Given the description of an element on the screen output the (x, y) to click on. 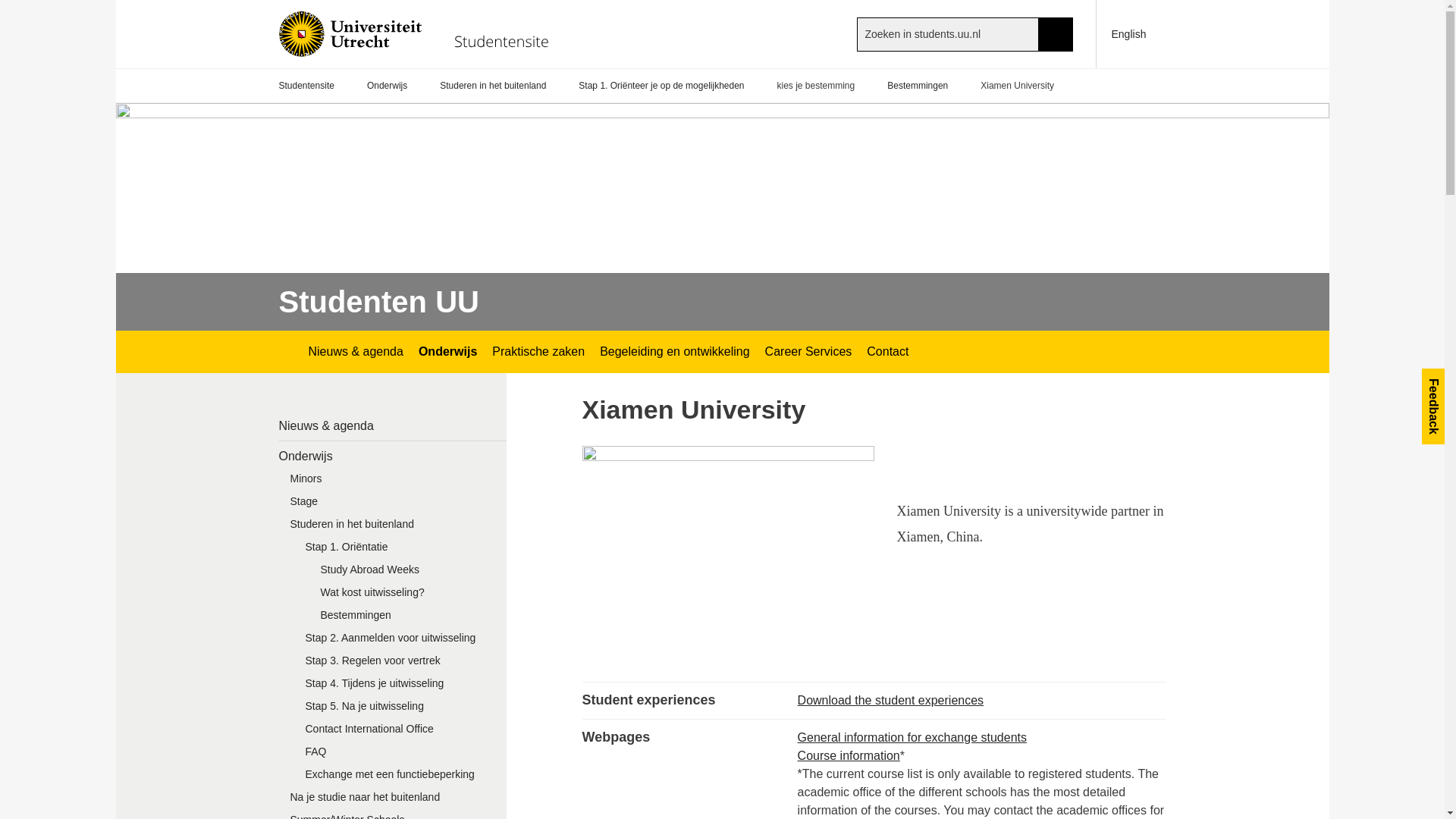
Overslaan en naar de inhoud gaan (7, 7)
Onderwijs (386, 85)
Studenten UU (379, 301)
Studeren in het buitenland FAQ (400, 754)
Studeren in het buitenland (492, 85)
ZOEKEN (1056, 33)
English (1131, 33)
Studentensite (306, 85)
Home (421, 33)
Bestemmingen (916, 85)
